Given the description of an element on the screen output the (x, y) to click on. 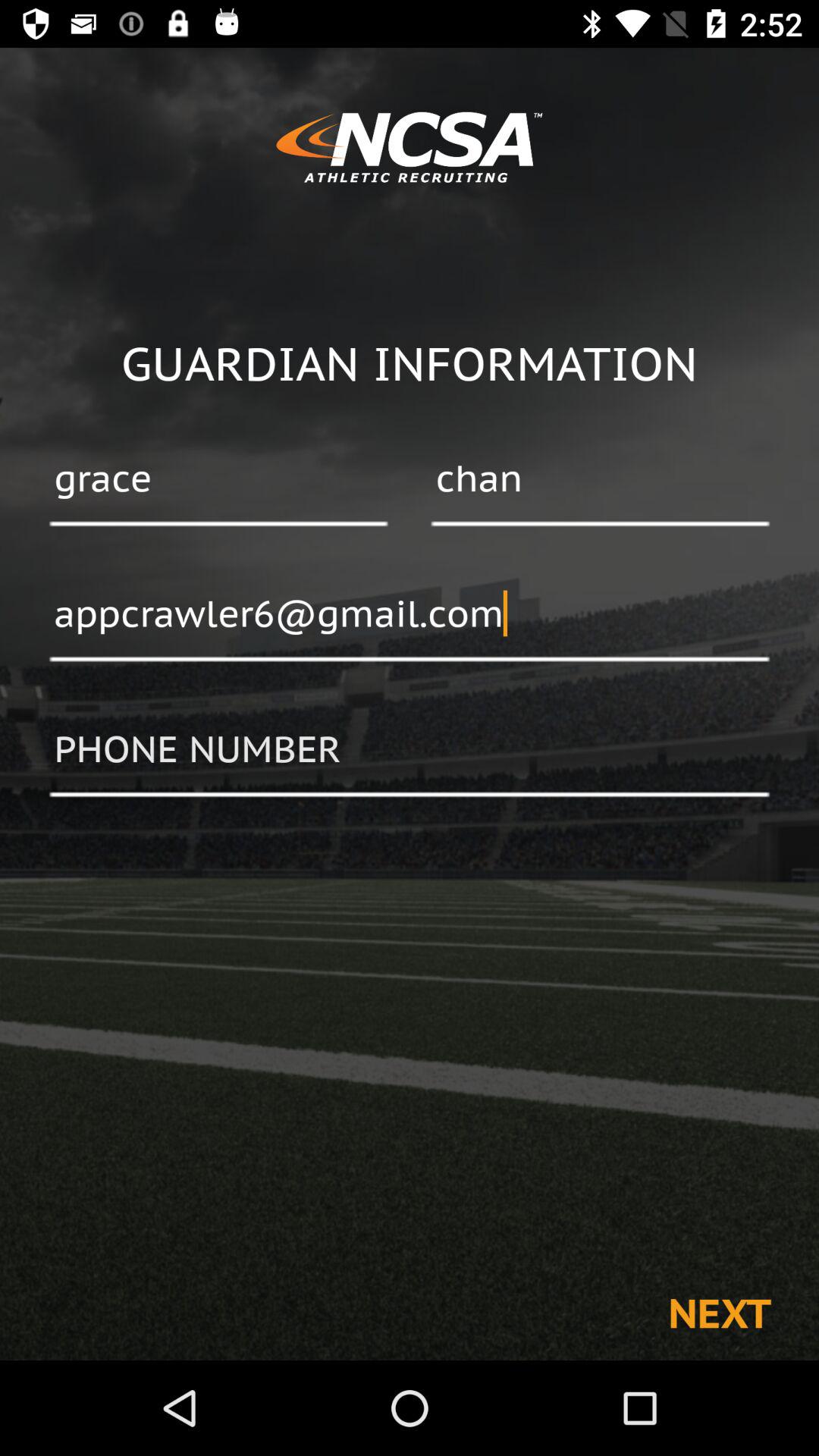
turn off the chan (600, 479)
